Given the description of an element on the screen output the (x, y) to click on. 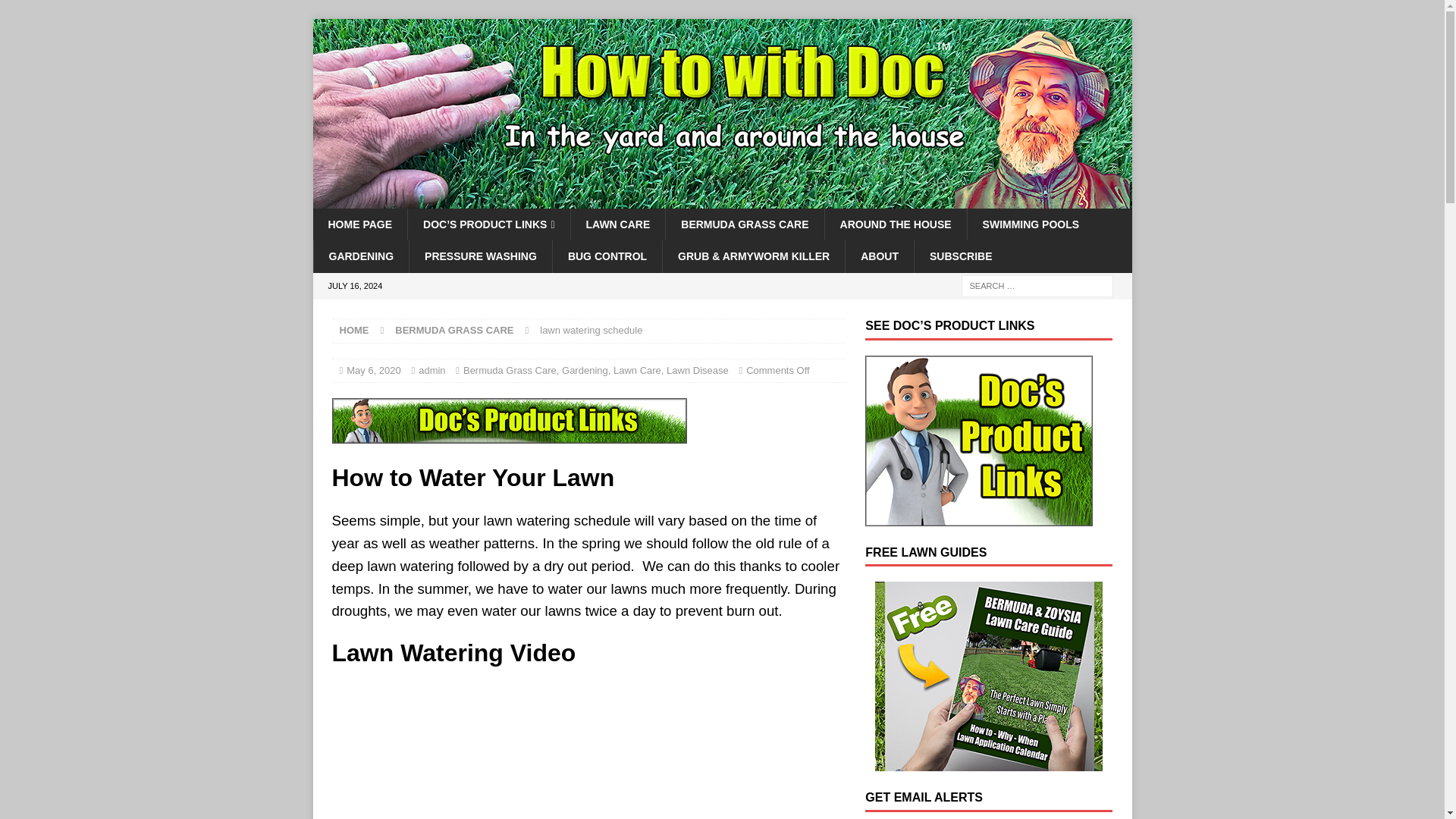
HOME PAGE (360, 224)
How to with Doc (722, 200)
YouTube player (588, 751)
